Given the description of an element on the screen output the (x, y) to click on. 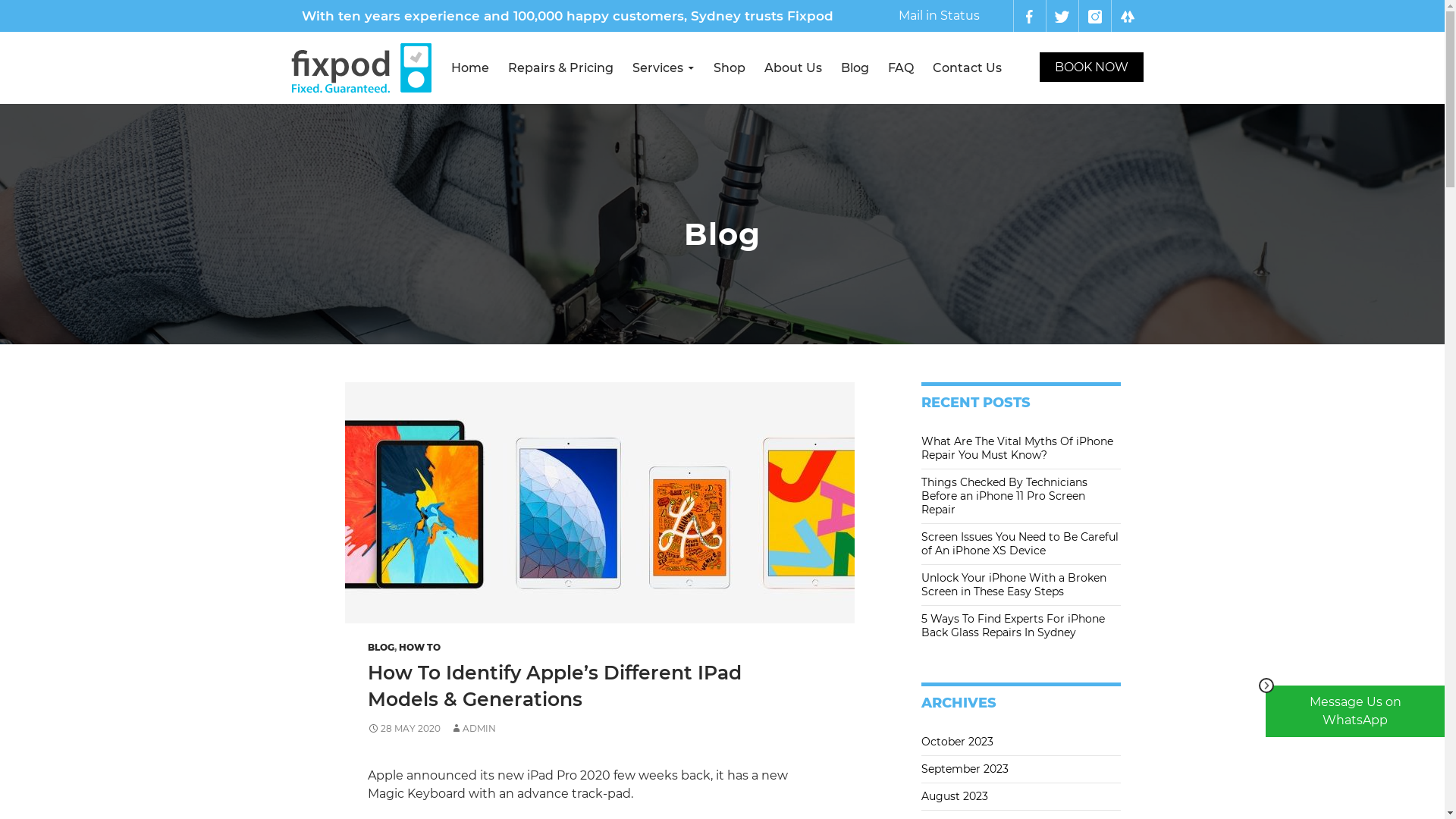
Mail in Status Element type: text (938, 15)
28 MAY 2020 Element type: text (403, 728)
Blog Element type: text (854, 67)
Contact Us Element type: text (966, 67)
Services Element type: text (662, 67)
ADMIN Element type: text (472, 728)
Home Element type: text (469, 67)
August 2023 Element type: text (954, 796)
October 2023 Element type: text (957, 741)
Repairs & Pricing Element type: text (559, 67)
What Are The Vital Myths Of iPhone Repair You Must Know? Element type: text (1017, 447)
Unlock Your iPhone With a Broken Screen in These Easy Steps Element type: text (1013, 584)
Skip To Content Element type: text (449, 31)
About Us Element type: text (792, 67)
Message Us on WhatsApp Element type: text (1354, 711)
Shop Element type: text (729, 67)
BOOK NOW Element type: text (1090, 66)
Screen Issues You Need to Be Careful of An iPhone XS Device Element type: text (1019, 543)
HOW TO Element type: text (419, 646)
September 2023 Element type: text (964, 768)
FAQ Element type: text (900, 67)
BLOG Element type: text (380, 646)
